Given the description of an element on the screen output the (x, y) to click on. 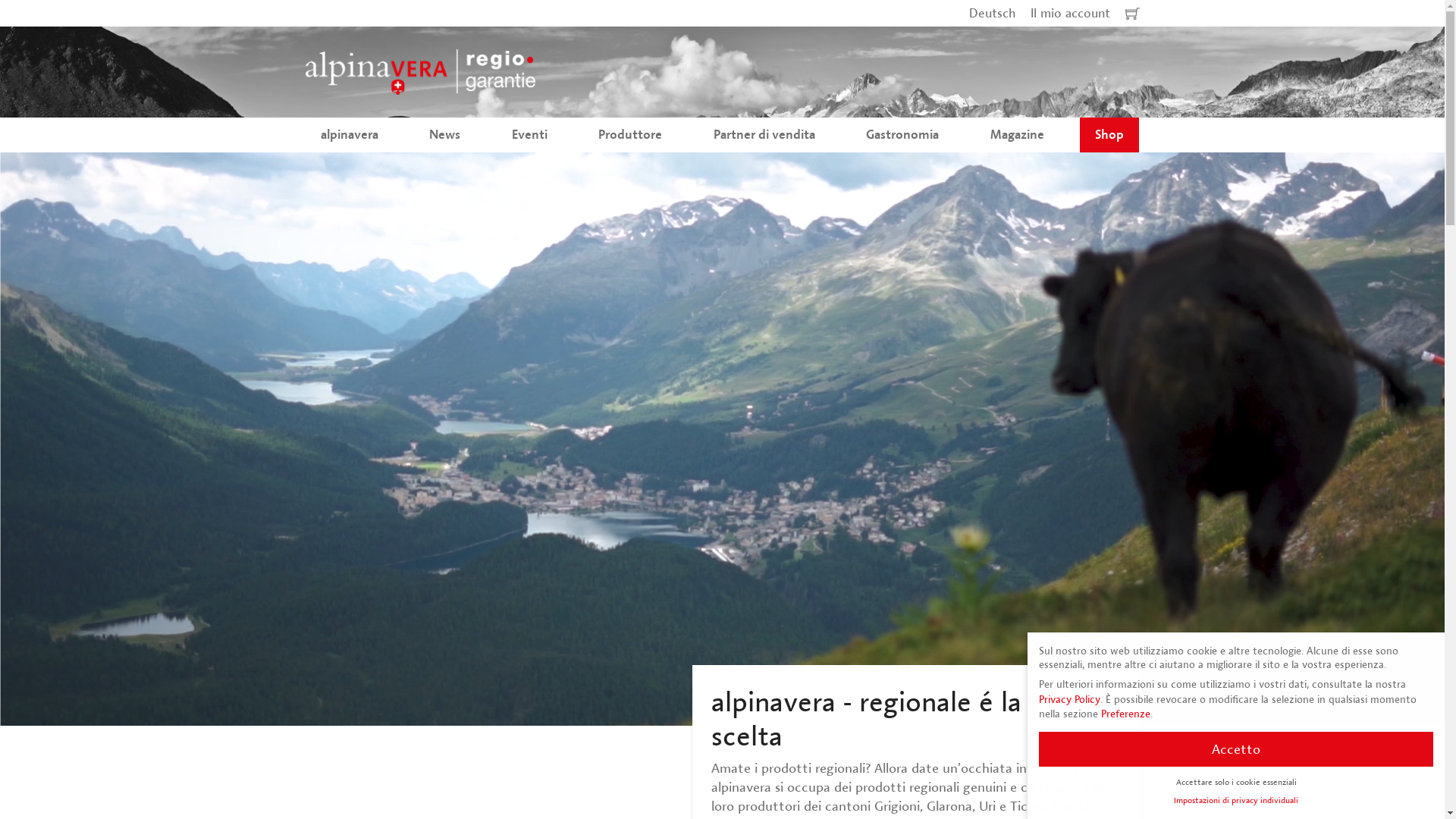
Produttore Element type: text (630, 134)
Accettare solo i cookie essenziali Element type: text (1235, 781)
Eventi Element type: text (529, 134)
Magazine Element type: text (1017, 134)
Accetto Element type: text (1235, 748)
Partner di vendita Element type: text (764, 134)
alpinavera Element type: text (348, 134)
Privacy Policy Element type: text (1069, 698)
Il mio account Element type: text (1069, 12)
Impostazioni di privacy individuali Element type: text (1235, 799)
Shop Element type: text (1109, 134)
Deutsch Element type: text (992, 12)
News Element type: text (444, 134)
Preferenze Element type: text (1125, 713)
Gastronomia Element type: text (901, 134)
